Given the description of an element on the screen output the (x, y) to click on. 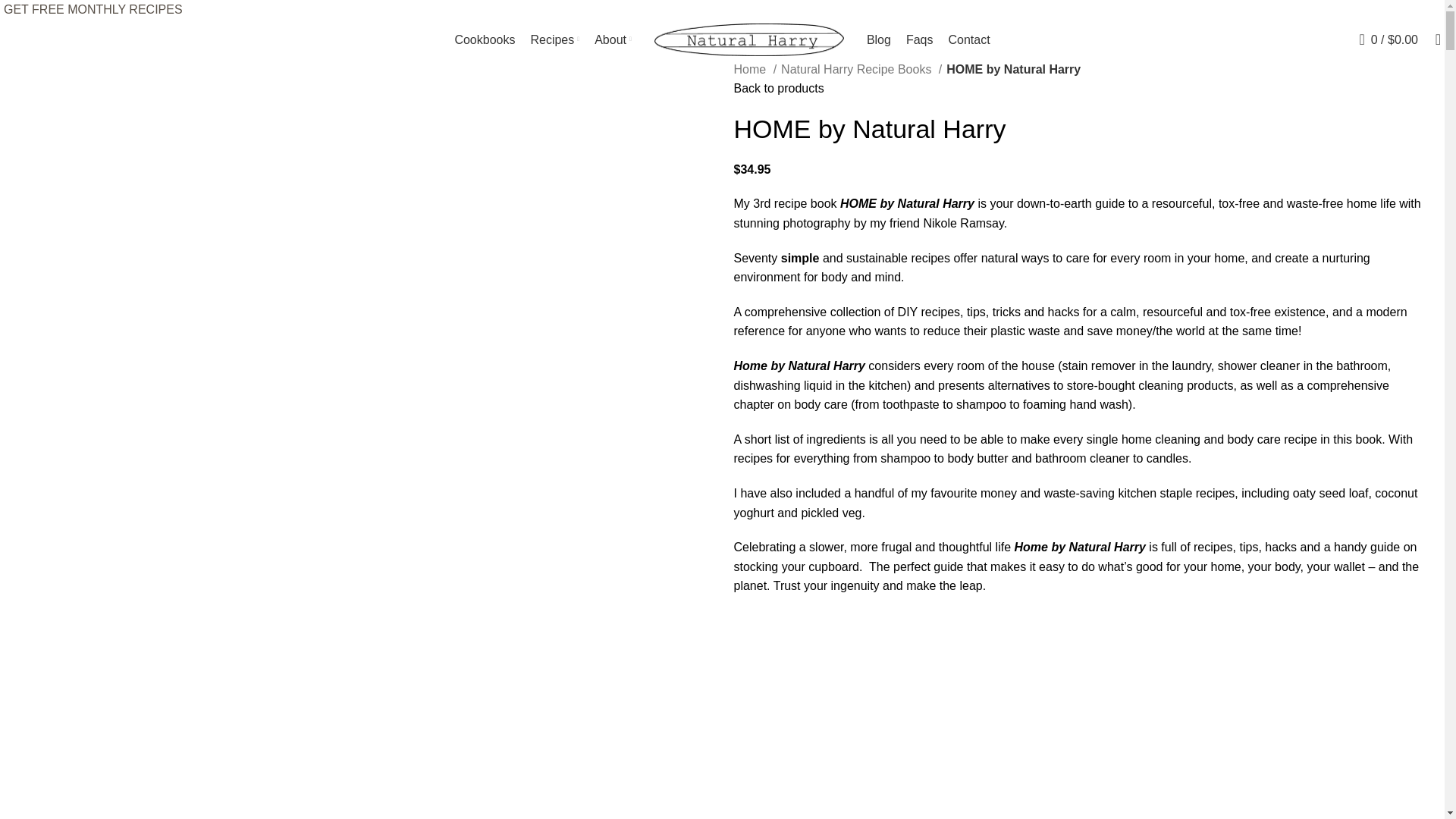
GET FREE MONTHLY RECIPES Element type: text (92, 9)
Search Element type: hover (1432, 39)
Natural Harry Recipe Books Element type: text (861, 69)
Faqs Element type: text (919, 39)
0 / $0.00 Element type: text (1388, 39)
Blog Element type: text (878, 39)
About Element type: text (612, 39)
Back to products Element type: text (779, 87)
Home Element type: text (755, 69)
Contact Element type: text (968, 39)
Recipes Element type: text (554, 39)
Cookbooks Element type: text (484, 39)
